Given the description of an element on the screen output the (x, y) to click on. 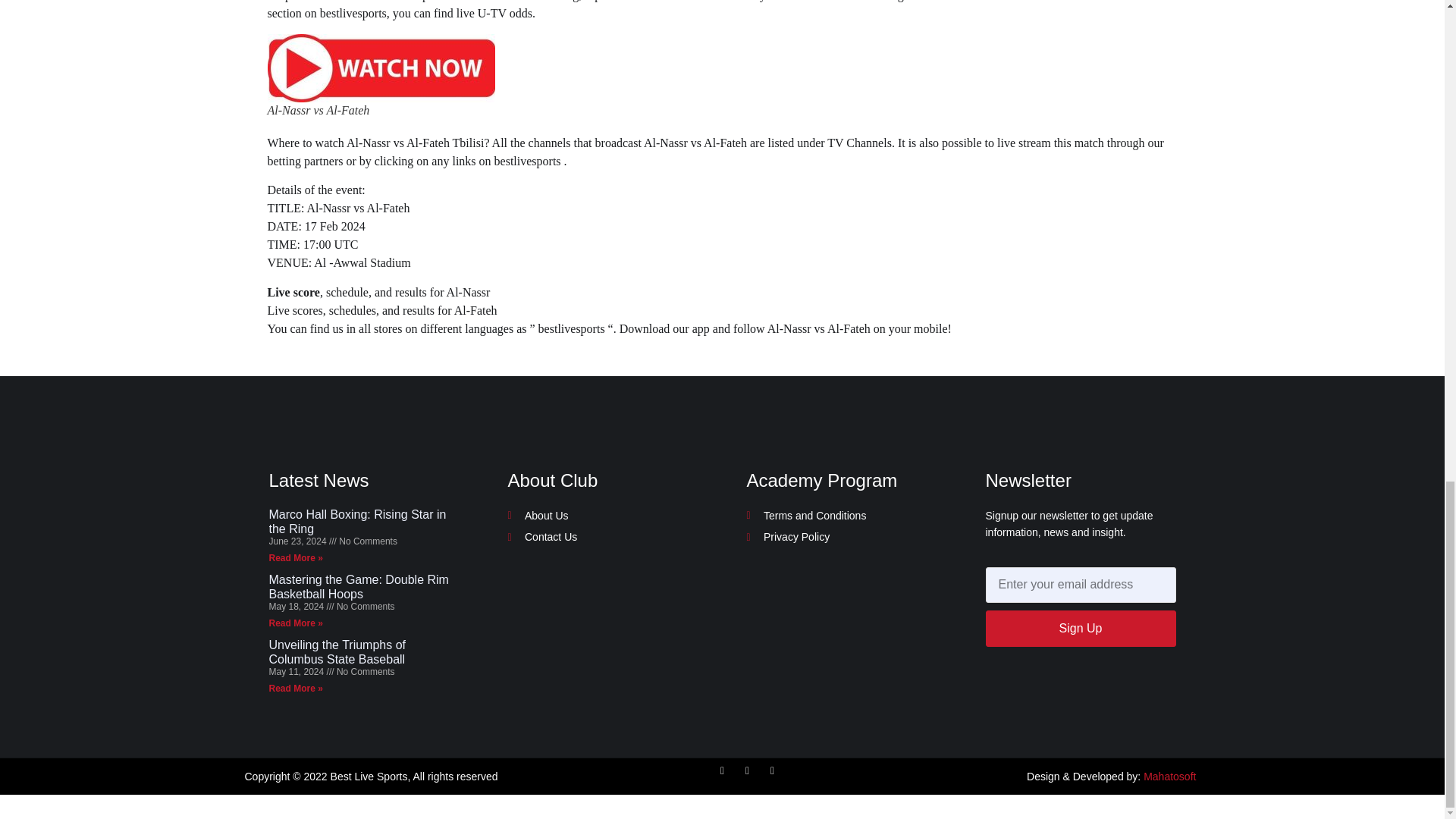
Privacy Policy (840, 536)
Contact Us (603, 536)
Mastering the Game: Double Rim Basketball Hoops (357, 586)
Terms and Conditions (840, 515)
About Us (603, 515)
Unveiling the Triumphs of Columbus State Baseball (336, 651)
Live score (292, 291)
Mahatosoft (1168, 776)
Marco Hall Boxing: Rising Star in the Ring (356, 521)
Sign Up (1080, 628)
